Given the description of an element on the screen output the (x, y) to click on. 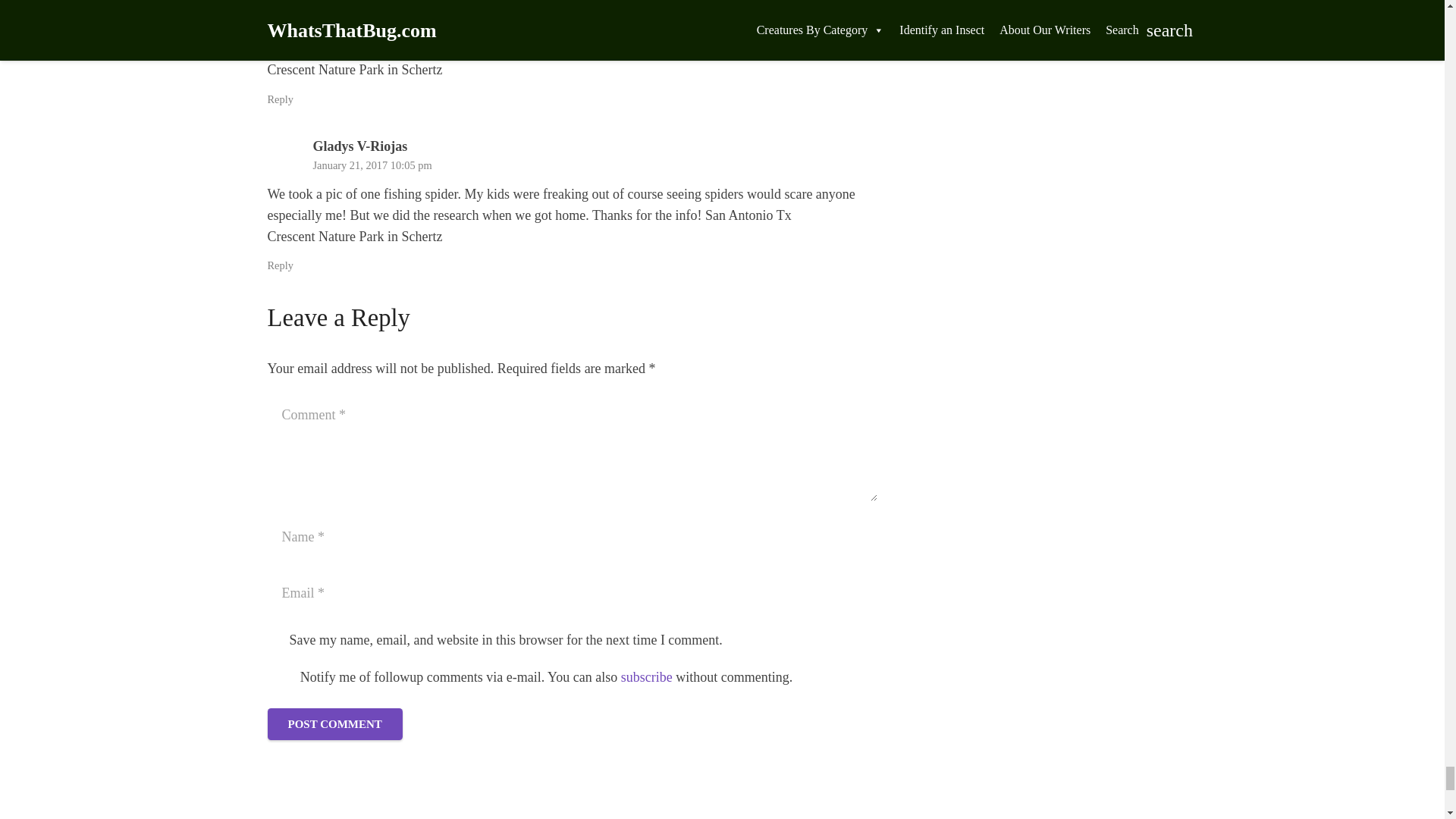
yes (278, 676)
January 21, 2017 10:05 pm (371, 164)
1 (274, 640)
January 21, 2017 10:05 pm (371, 2)
